Given the description of an element on the screen output the (x, y) to click on. 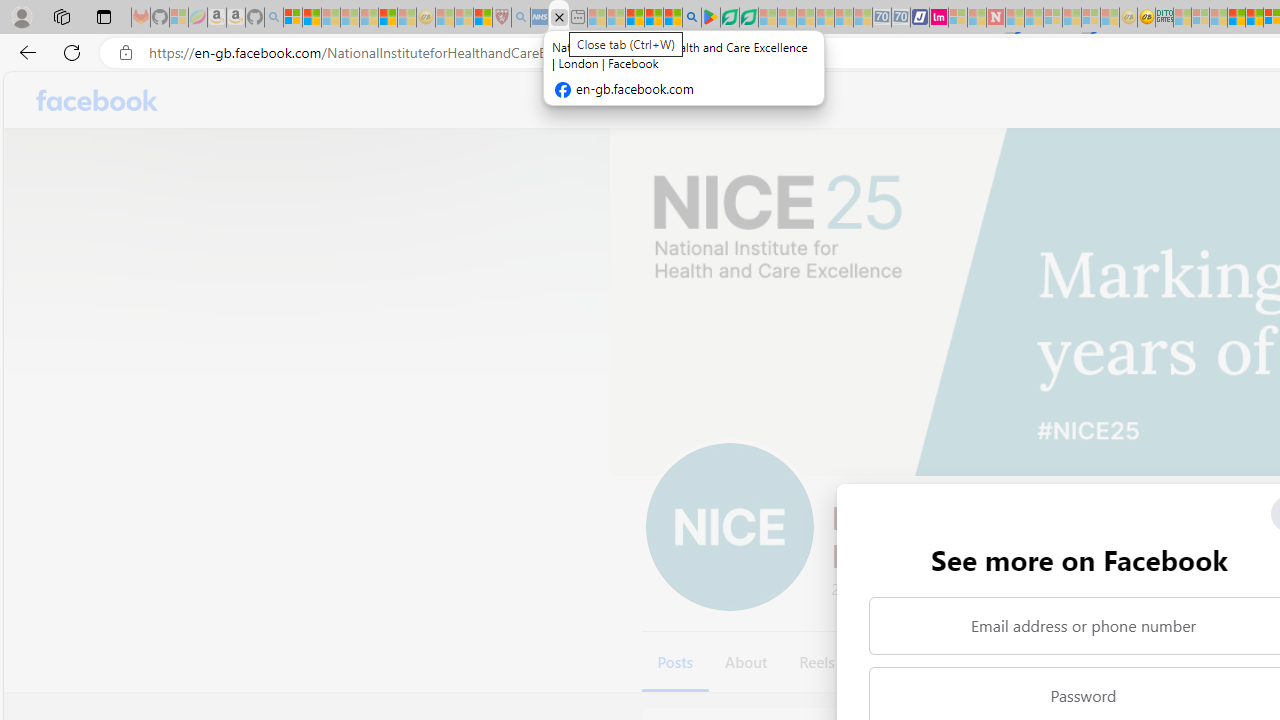
Expert Portfolios (1236, 17)
Bluey: Let's Play! - Apps on Google Play (710, 17)
